Given the description of an element on the screen output the (x, y) to click on. 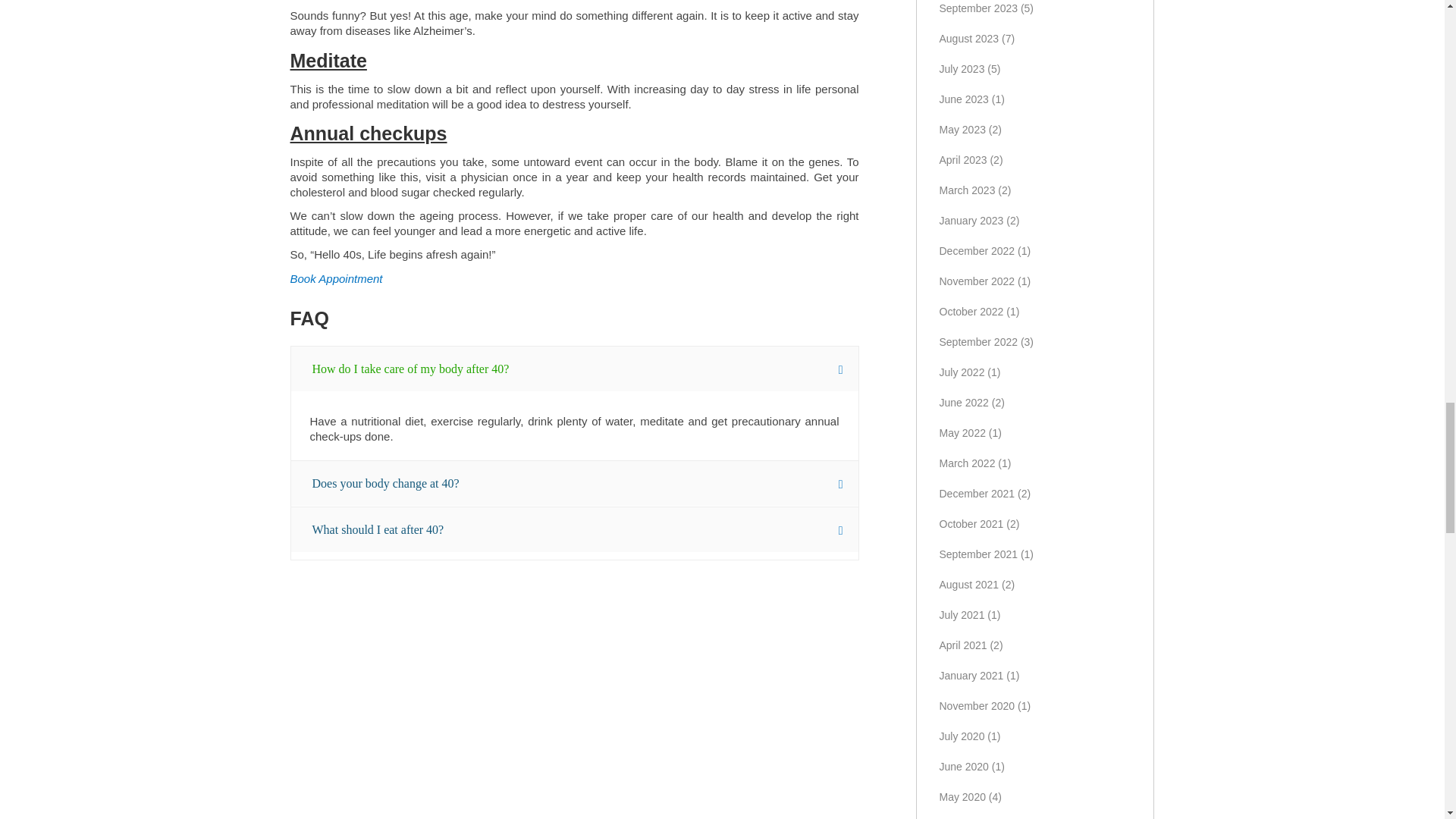
Book Appointment (335, 278)
book doctors appointment online (335, 278)
How do I take care of my body after 40? (575, 368)
Does your body change at 40? (575, 483)
